Given the description of an element on the screen output the (x, y) to click on. 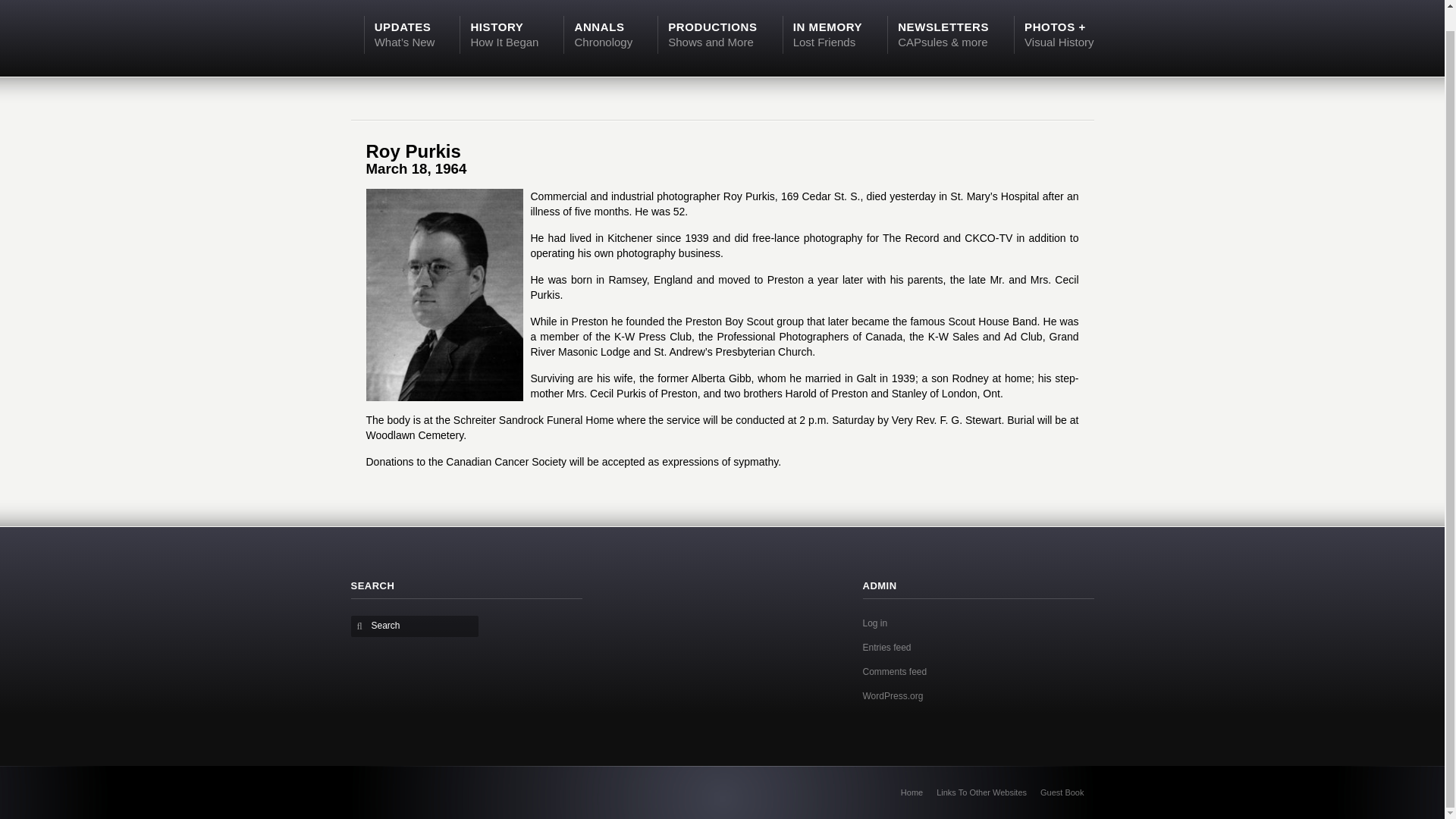
Links To Other Websites (981, 791)
Home (912, 791)
Home (912, 791)
Guest Book (1062, 791)
Entries feed (887, 647)
Search (417, 624)
Comments feed (895, 671)
Log in (828, 33)
